Given the description of an element on the screen output the (x, y) to click on. 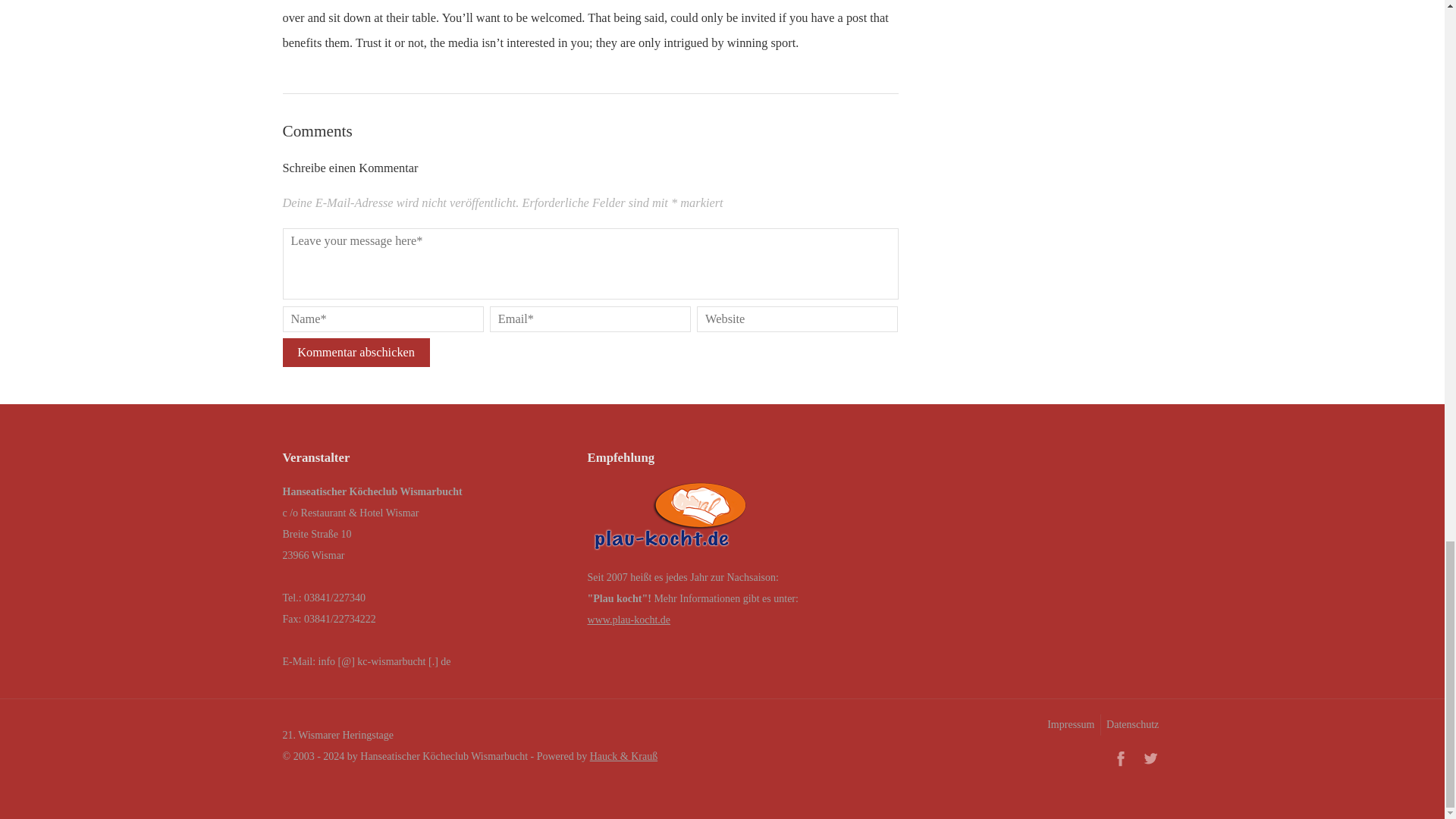
Datenschutz (1130, 724)
www.plau-kocht.de (629, 619)
Kommentar abschicken (355, 352)
plau-kocht-logo (671, 520)
Impressum (1069, 724)
Kommentar abschicken (355, 352)
Facebook (1120, 758)
Twitter (1149, 758)
